Given the description of an element on the screen output the (x, y) to click on. 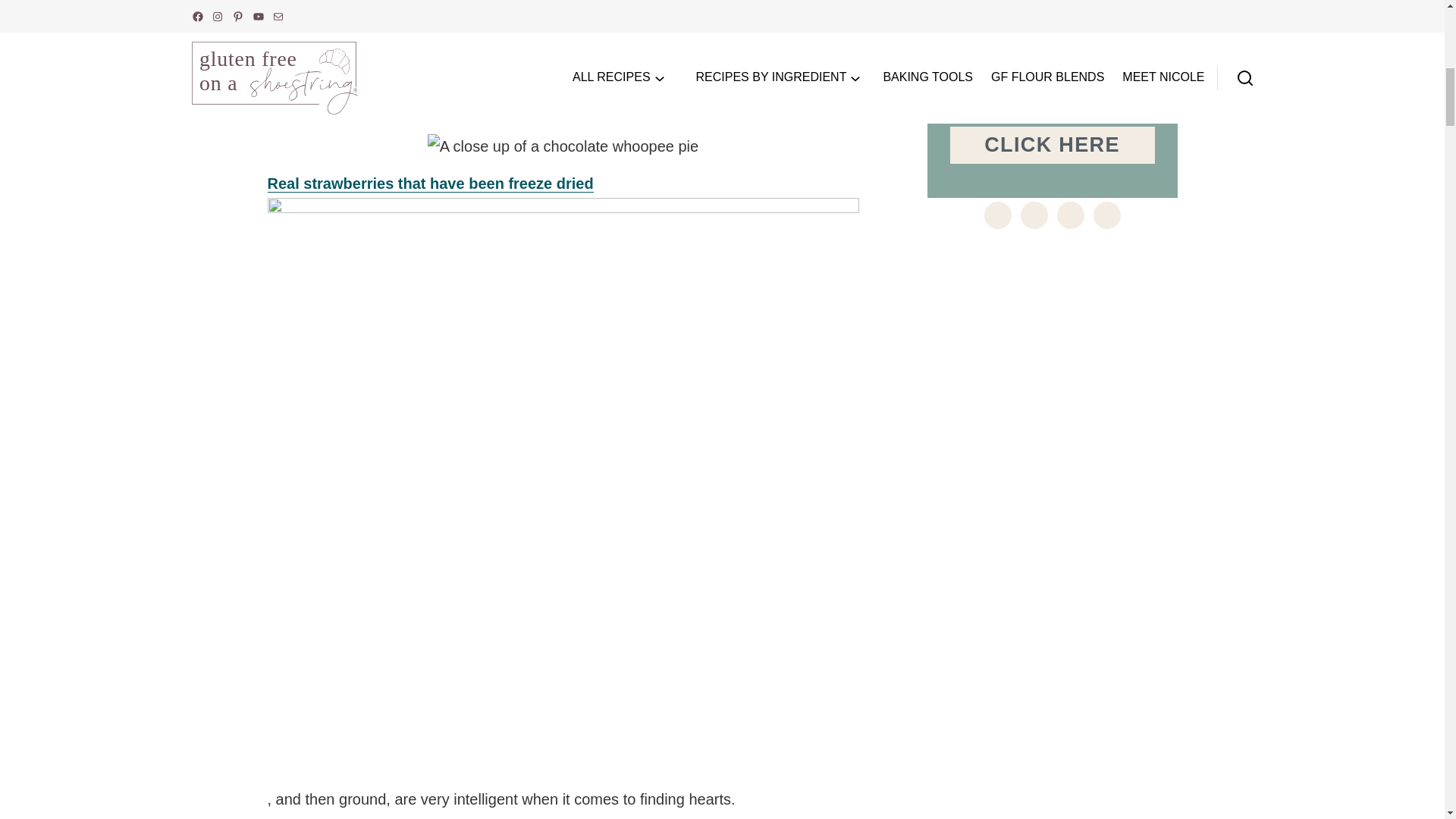
Click Here (1051, 144)
